Given the description of an element on the screen output the (x, y) to click on. 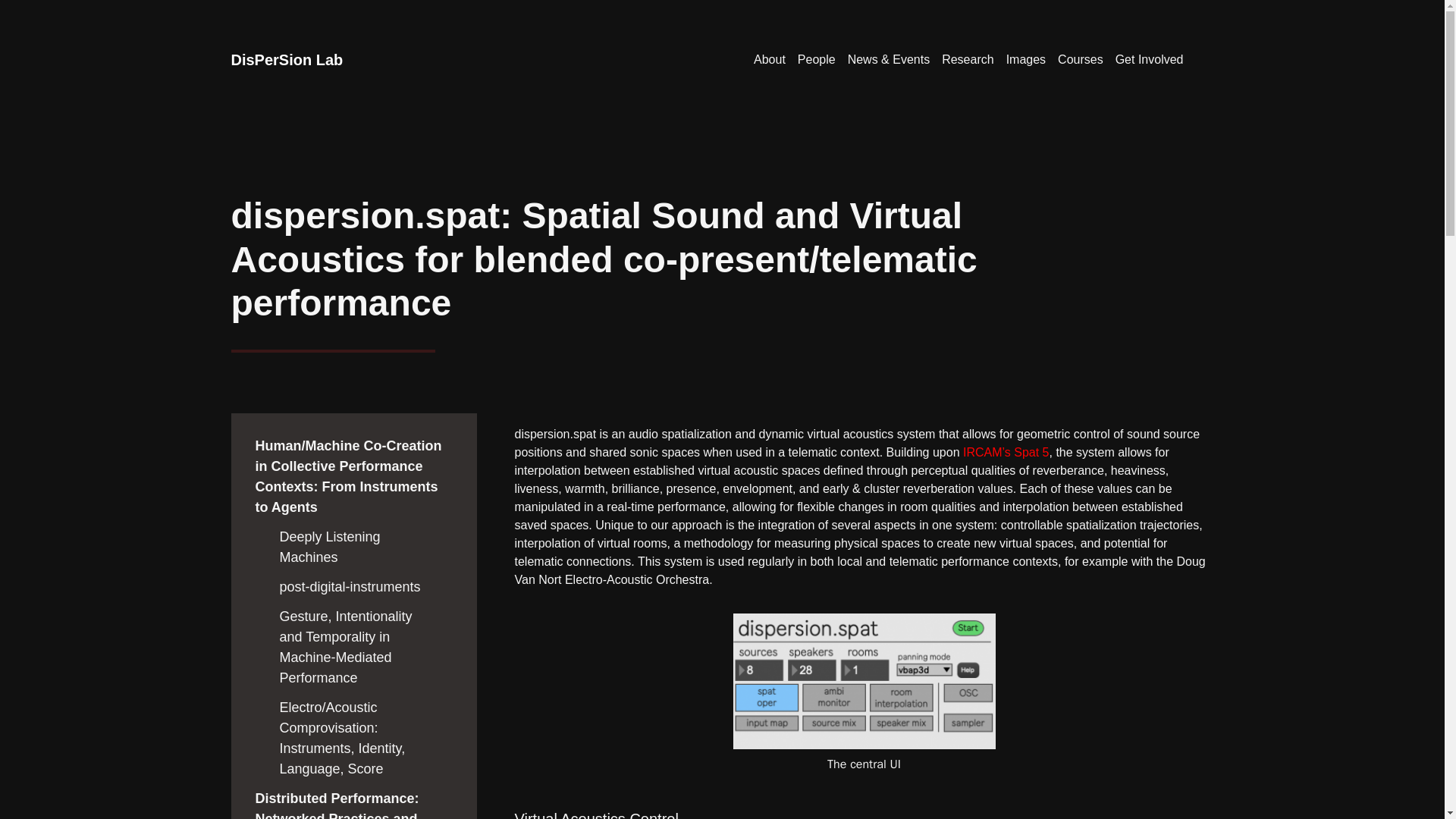
About (770, 60)
post-digital-instruments (349, 586)
Get Involved (1149, 60)
Research (967, 60)
Courses (1080, 60)
People (816, 60)
Deeply Listening Machines (329, 547)
DisPerSion Lab (286, 59)
